Given the description of an element on the screen output the (x, y) to click on. 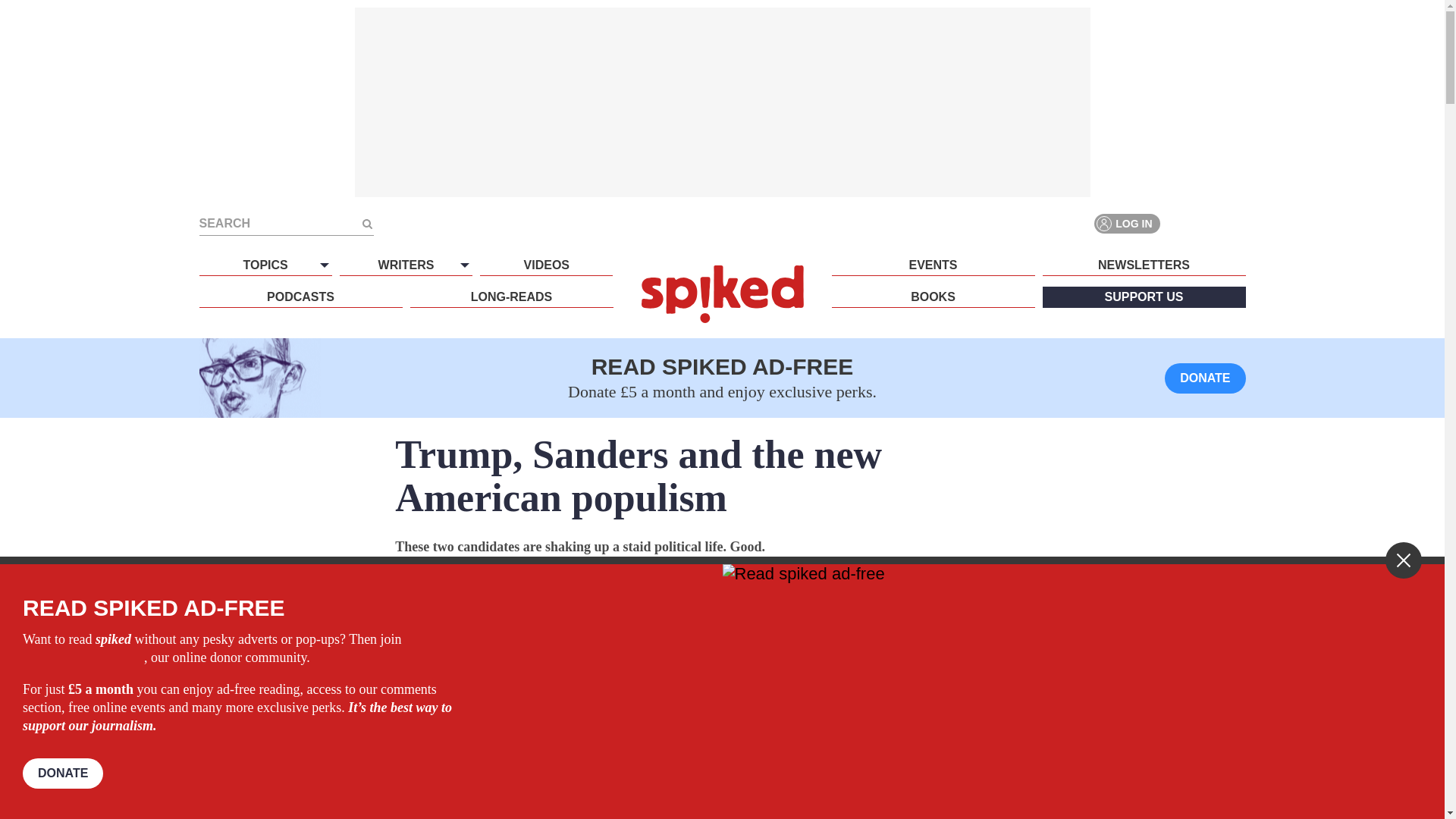
BOOKS (932, 296)
NEWSLETTERS (1143, 265)
LOG IN (1126, 223)
WRITERS (405, 265)
spiked - humanity is underrated (722, 293)
TOPICS (264, 265)
LONG-READS (510, 296)
SUPPORT US (1143, 296)
VIDEOS (546, 265)
EVENTS (932, 265)
